Given the description of an element on the screen output the (x, y) to click on. 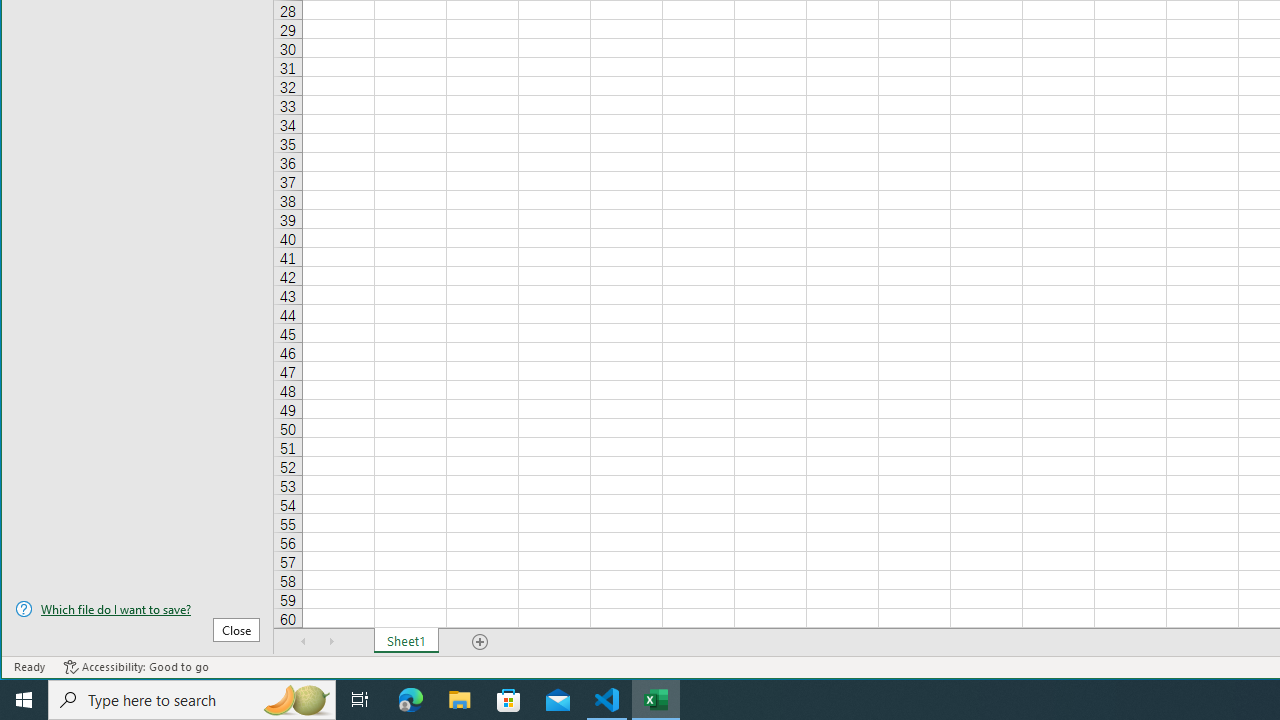
Search highlights icon opens search home window (295, 699)
